Given the description of an element on the screen output the (x, y) to click on. 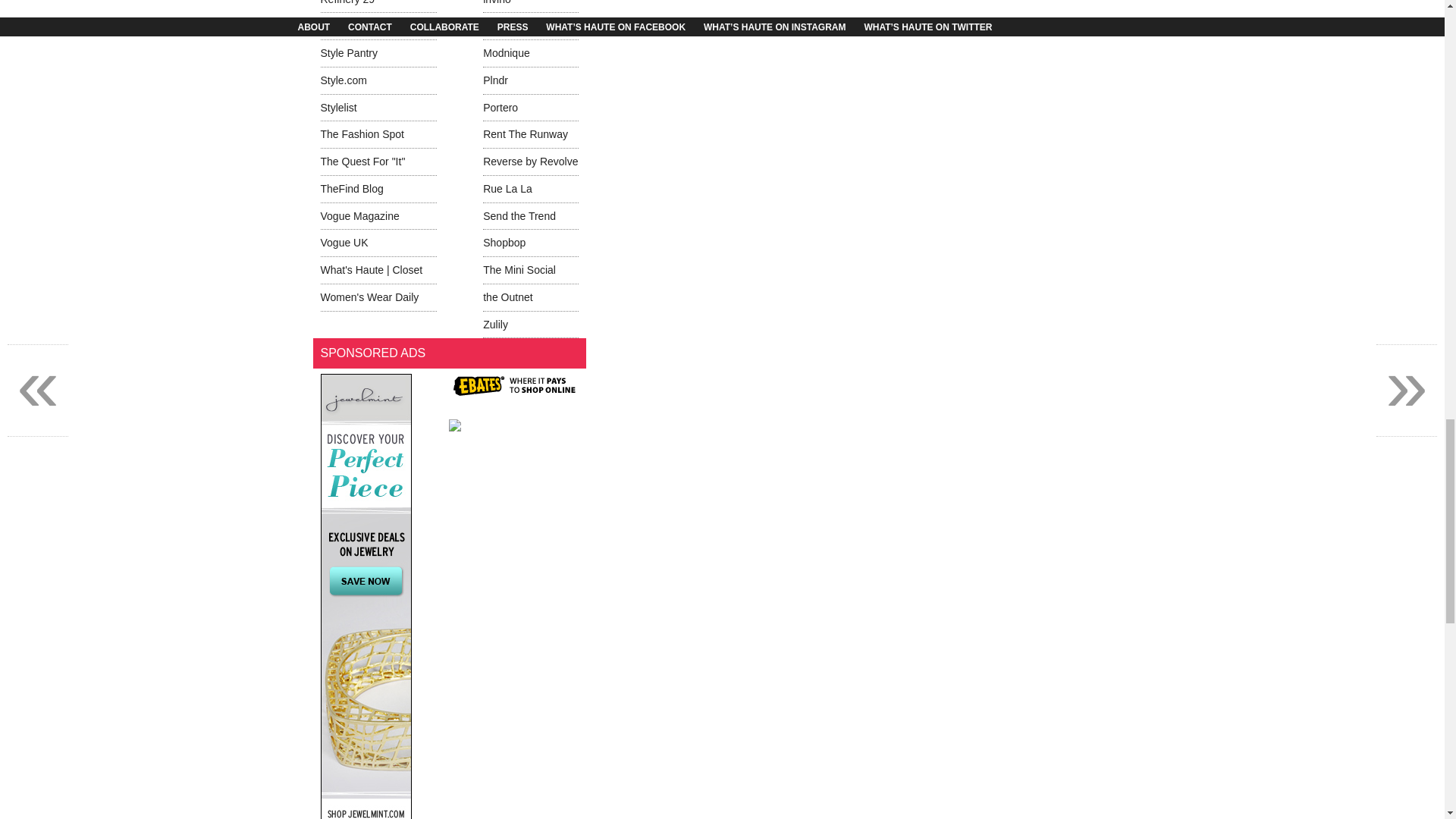
invino invite (497, 2)
